Given the description of an element on the screen output the (x, y) to click on. 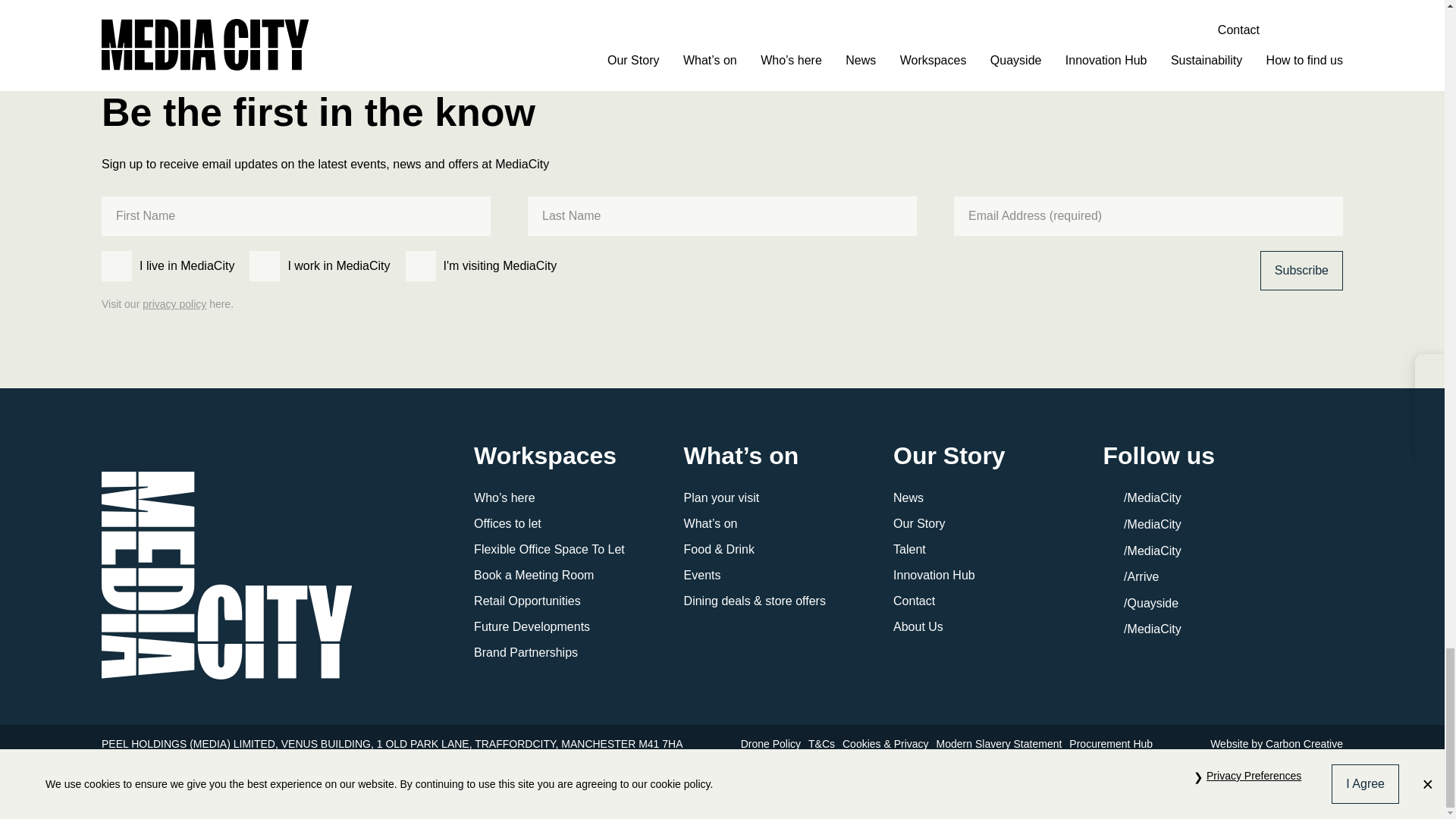
MediaCity on Instagram (1141, 550)
Arrive on Instagram (1130, 576)
MediaCity on Twitter (1141, 523)
I'm visiting MediaCity (420, 265)
I work in MediaCity (263, 265)
MediaCity on LinkedIn (1141, 628)
MediaCity on Facebook (1141, 497)
Quayside on Instagram (1141, 603)
Subscribe (1301, 270)
I live in MediaCity (116, 265)
